Given the description of an element on the screen output the (x, y) to click on. 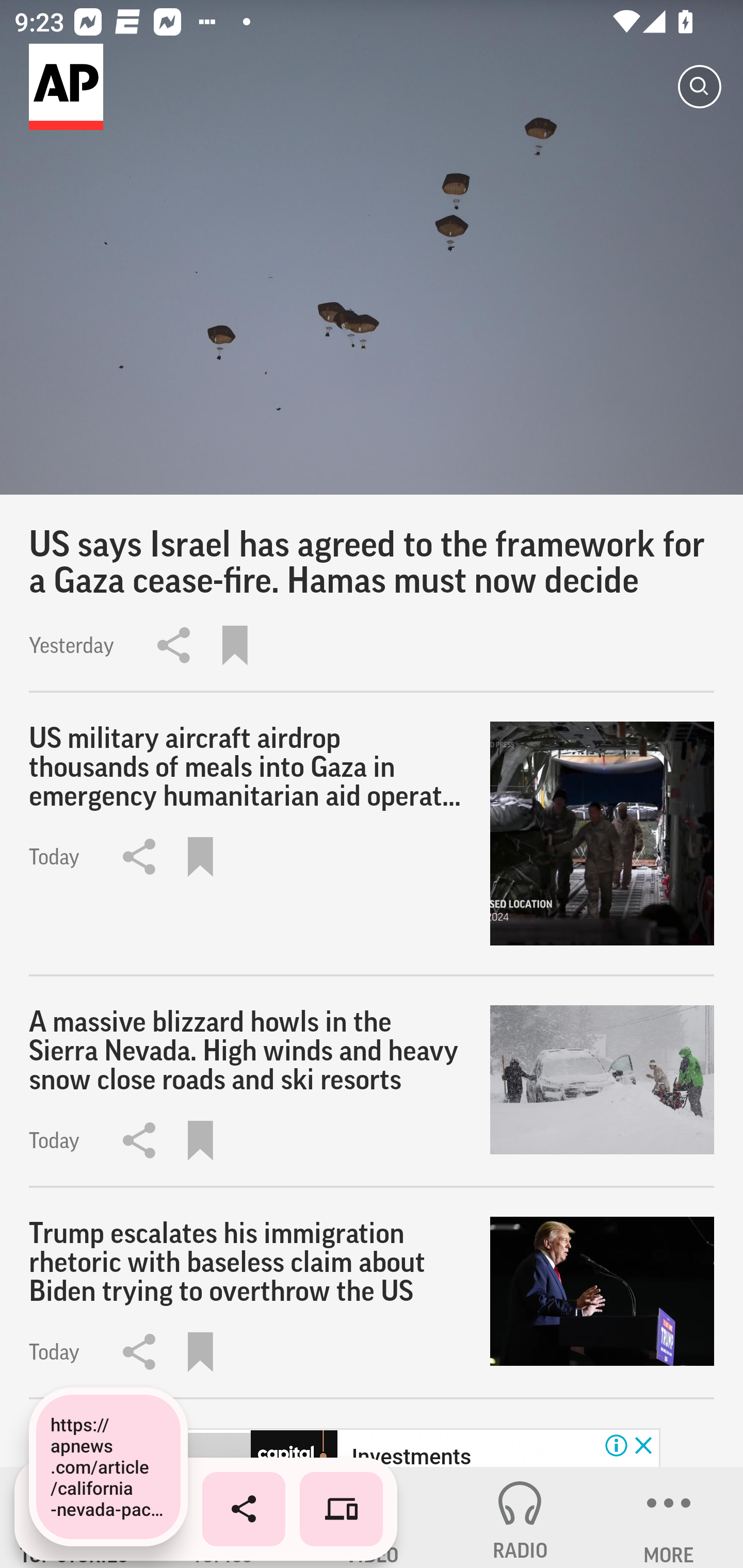
TOPICS (222, 1517)
VIDEO (371, 1517)
RADIO (519, 1517)
MORE (668, 1517)
